Given the description of an element on the screen output the (x, y) to click on. 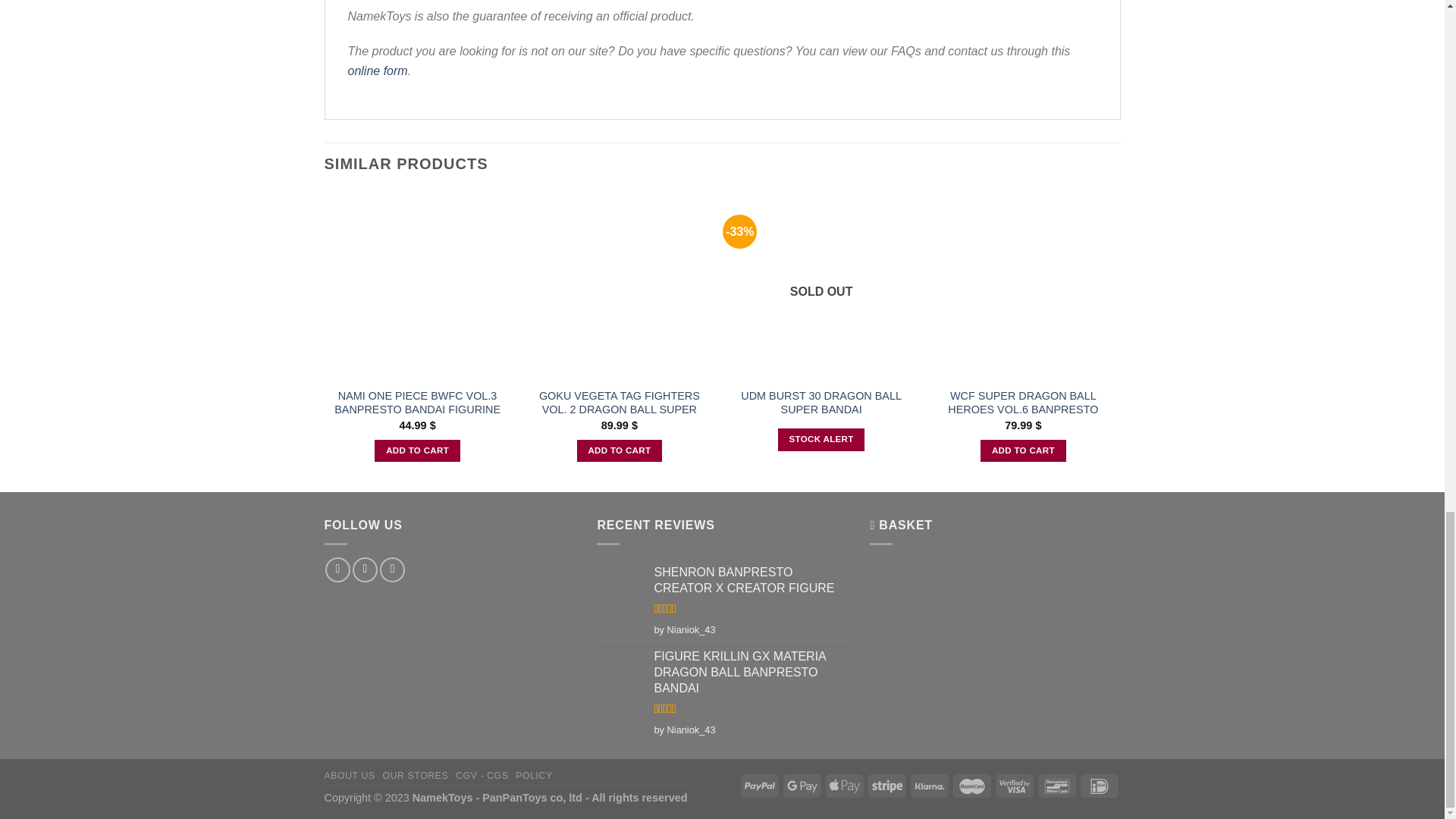
Follow us on Facebook (337, 569)
Follow us on Twitter (392, 569)
Follow us on Instagram (364, 569)
